Given the description of an element on the screen output the (x, y) to click on. 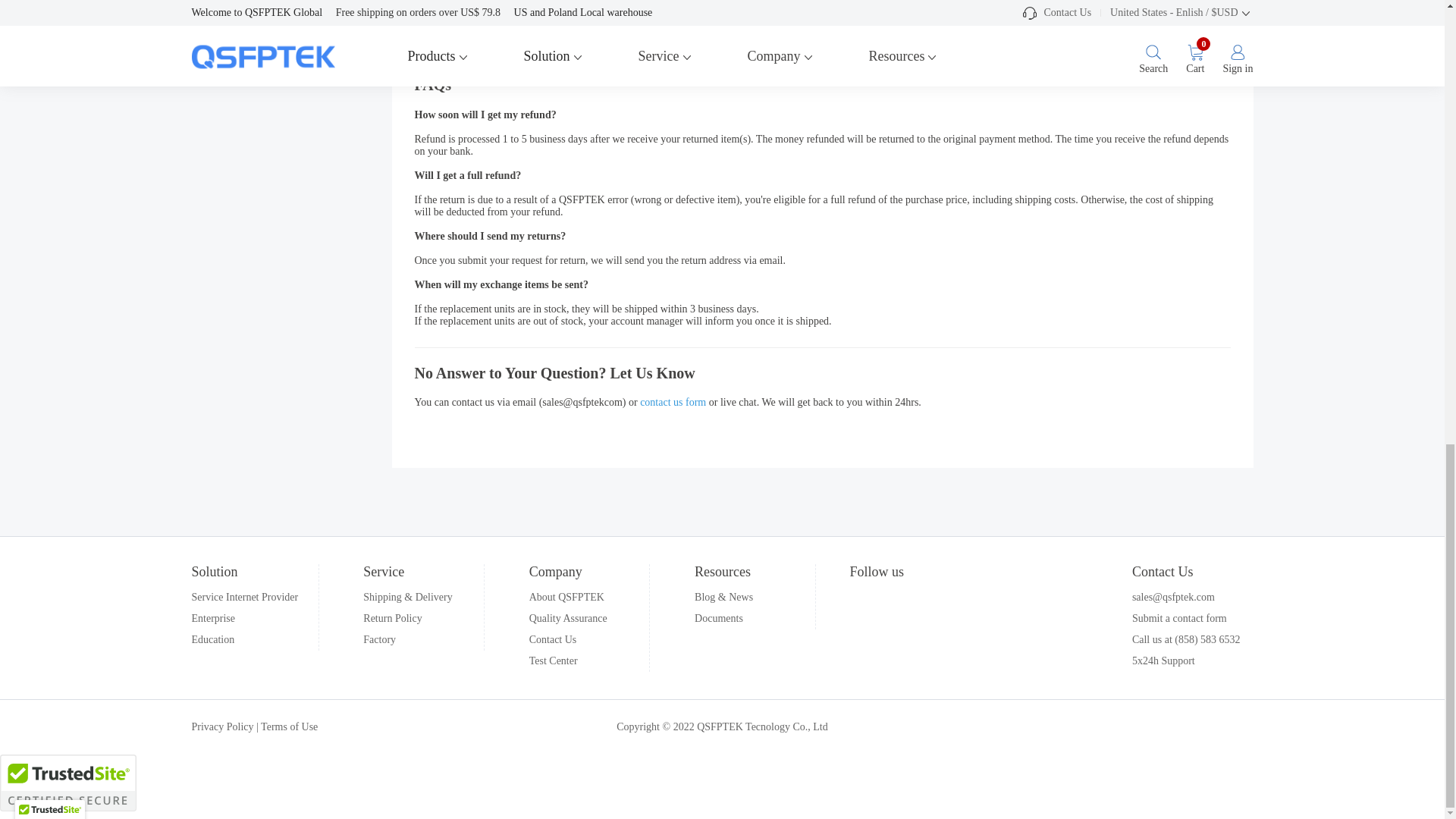
TrustedSite Certified (68, 782)
